Given the description of an element on the screen output the (x, y) to click on. 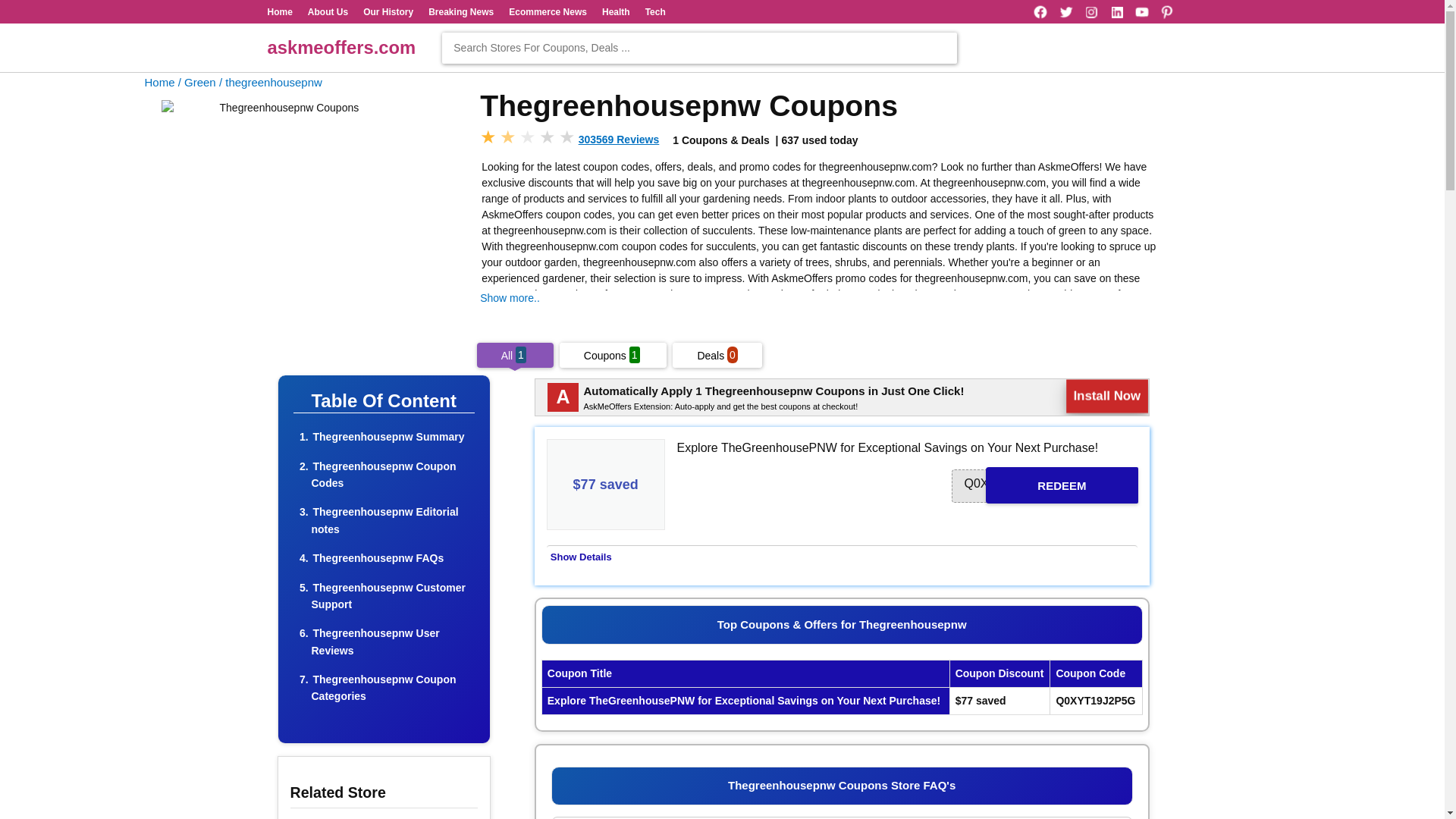
YouTube (1142, 12)
Thegreenhousepnw Editorial notes (384, 520)
About Us (327, 11)
Show more.. (510, 297)
Twitter Username (1066, 12)
Install Now (1101, 393)
303569 Reviews (618, 139)
Breaking News (460, 11)
Instagram (1091, 12)
askmeoffers.com (340, 46)
